Given the description of an element on the screen output the (x, y) to click on. 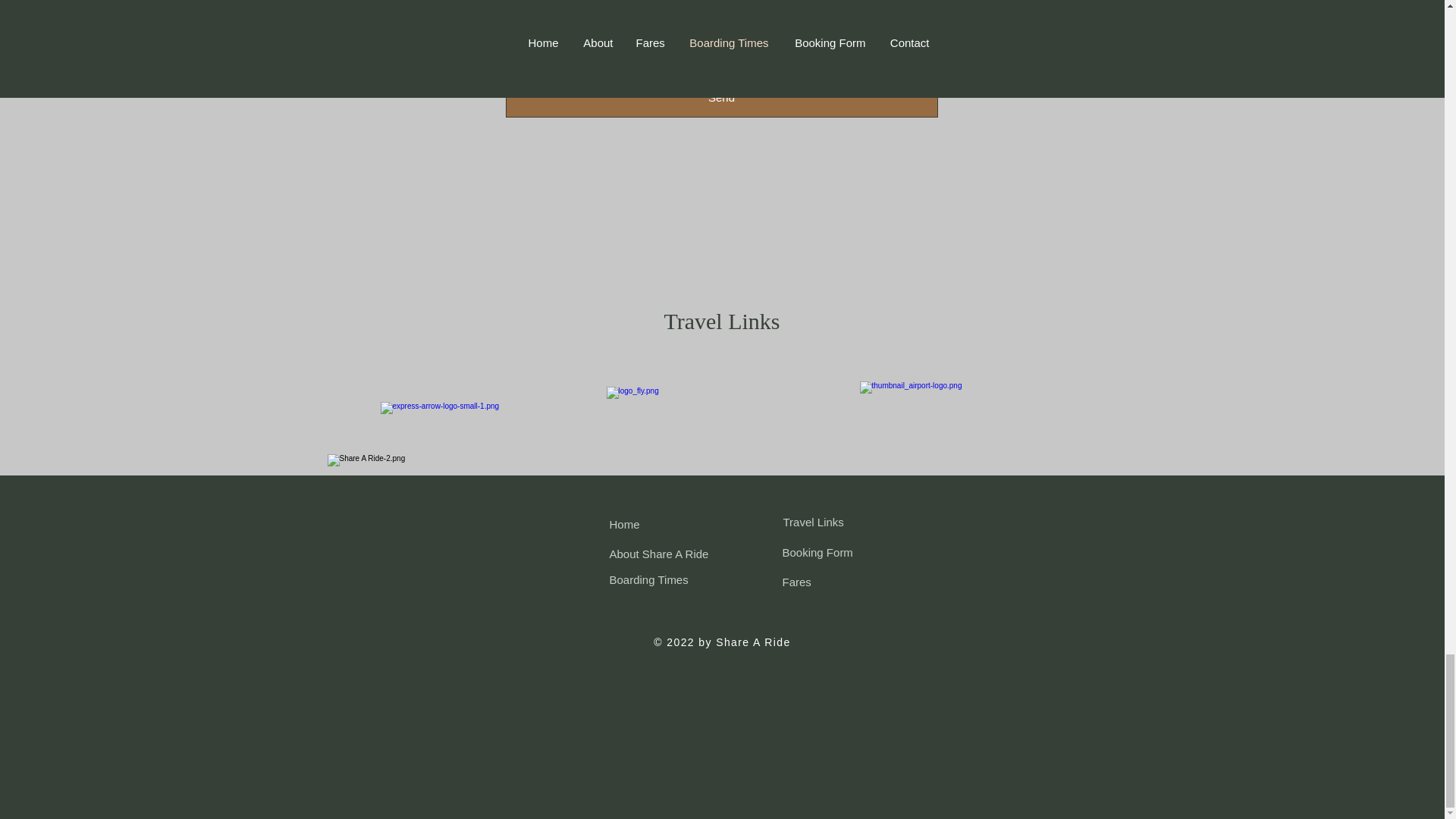
Booking Form (818, 552)
Travel Links (813, 521)
Home (625, 523)
Send (721, 97)
About Share A Ride (659, 553)
Fares (796, 581)
Boarding Times (649, 579)
